Given the description of an element on the screen output the (x, y) to click on. 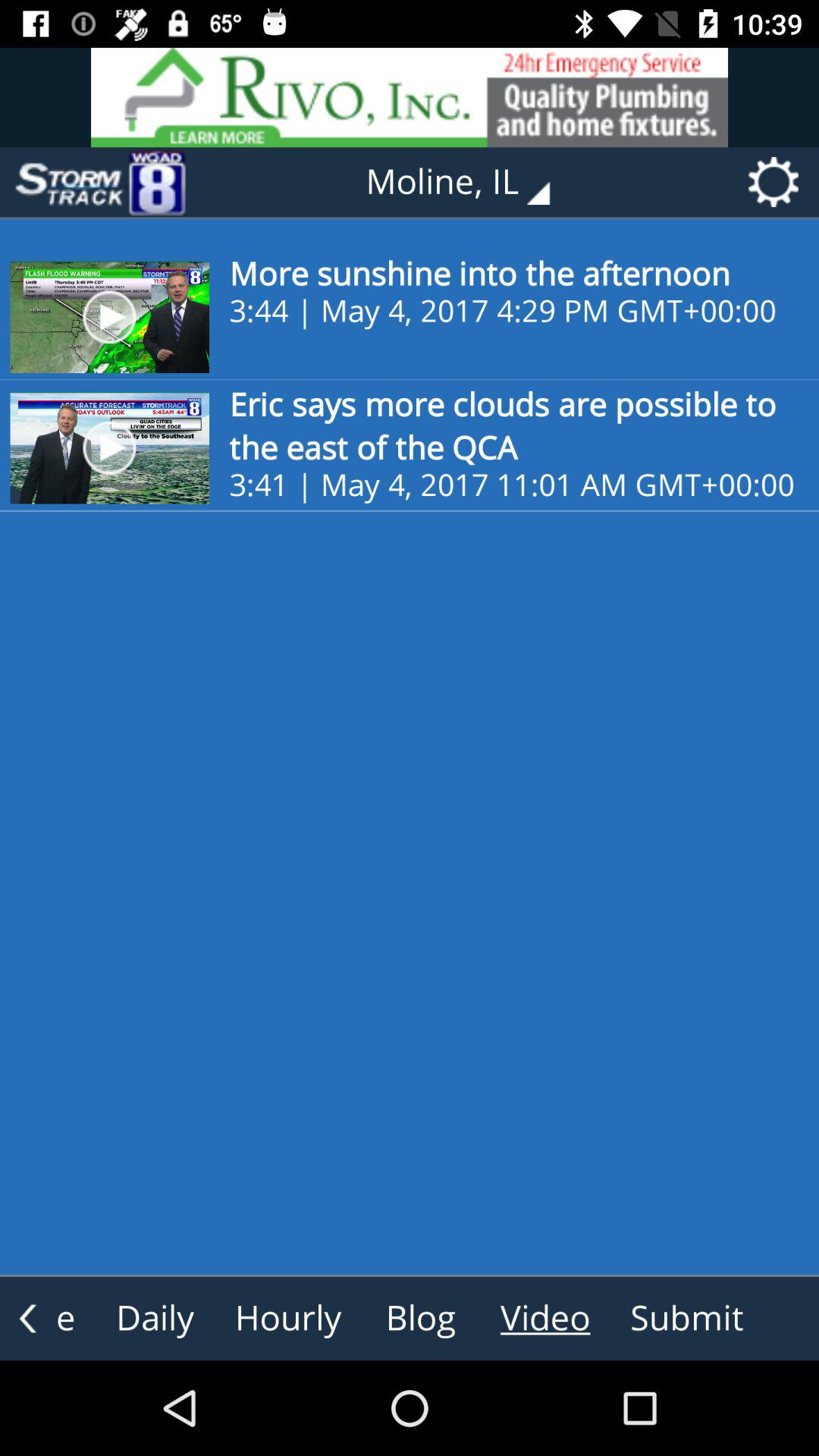
swipe until moline, il item (468, 182)
